Given the description of an element on the screen output the (x, y) to click on. 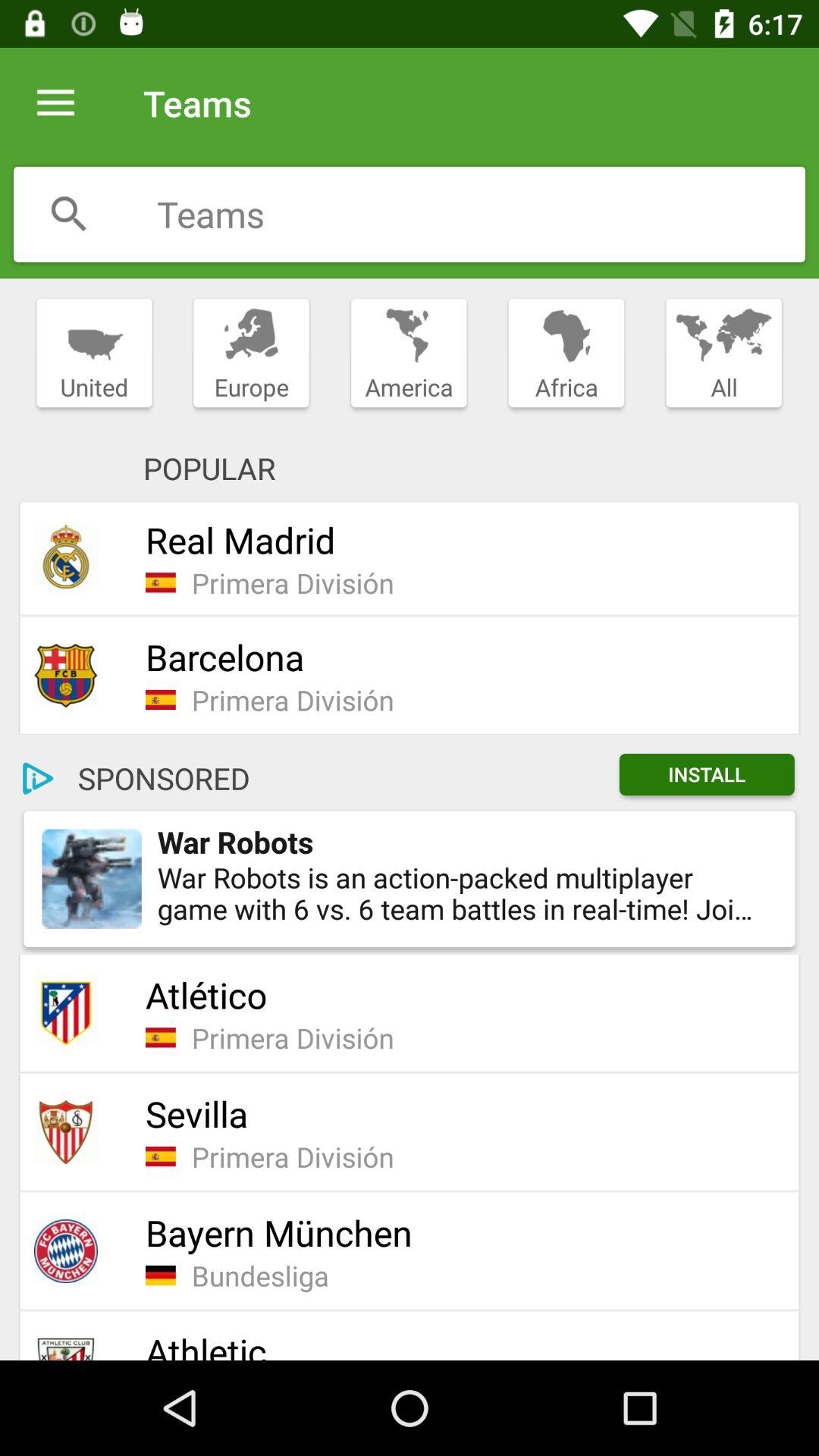
flip until the sevilla item (462, 1113)
